Given the description of an element on the screen output the (x, y) to click on. 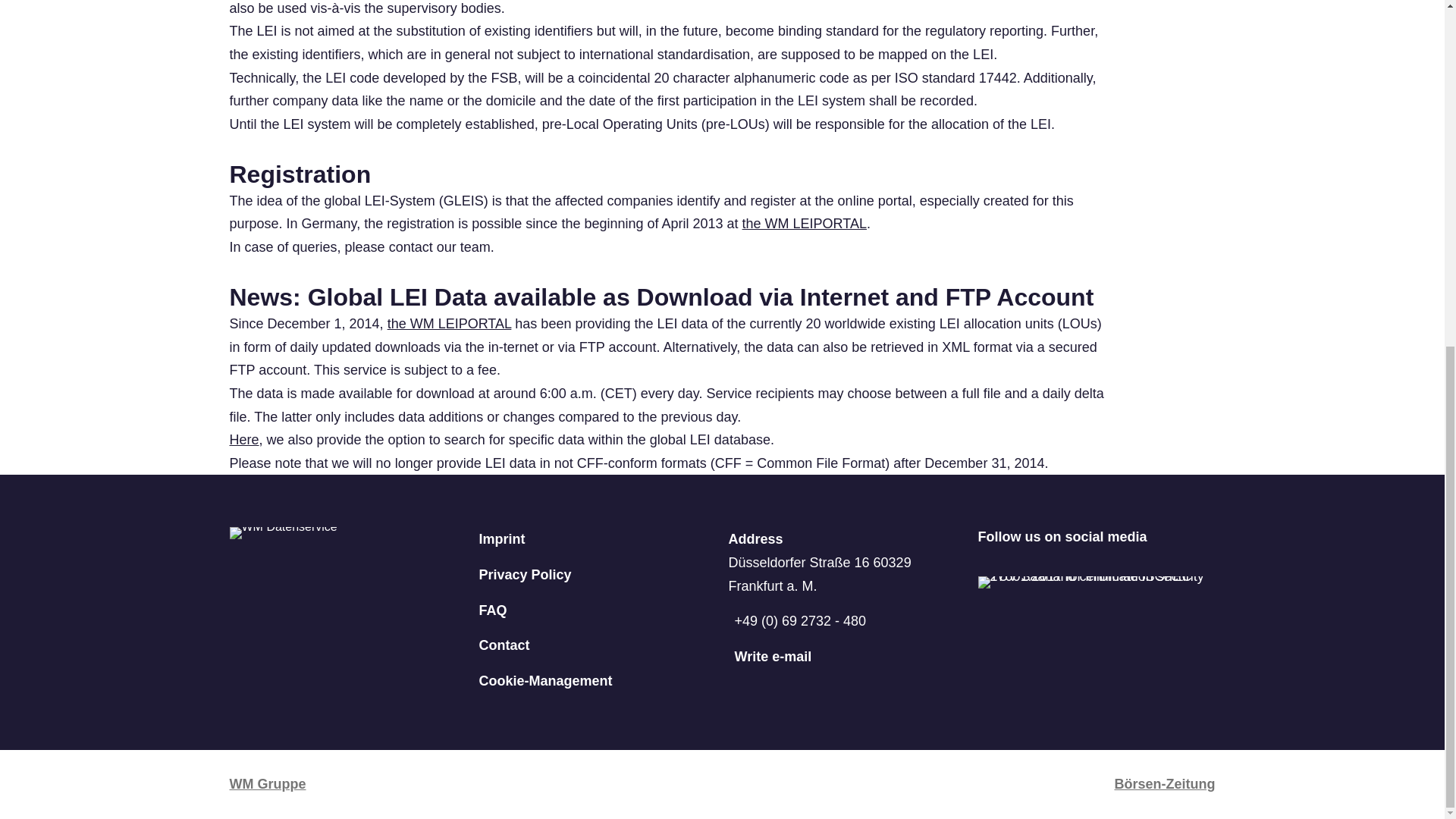
the WM LEIPORTAL (449, 323)
the WM LEIPORTAL (804, 223)
Privacy Policy (597, 575)
Contact (597, 645)
Imprint (597, 539)
WM-Datenservice-Logo-horizontal-white (282, 532)
Here (243, 439)
FAQ (597, 610)
Cookie-Management (597, 680)
